Given the description of an element on the screen output the (x, y) to click on. 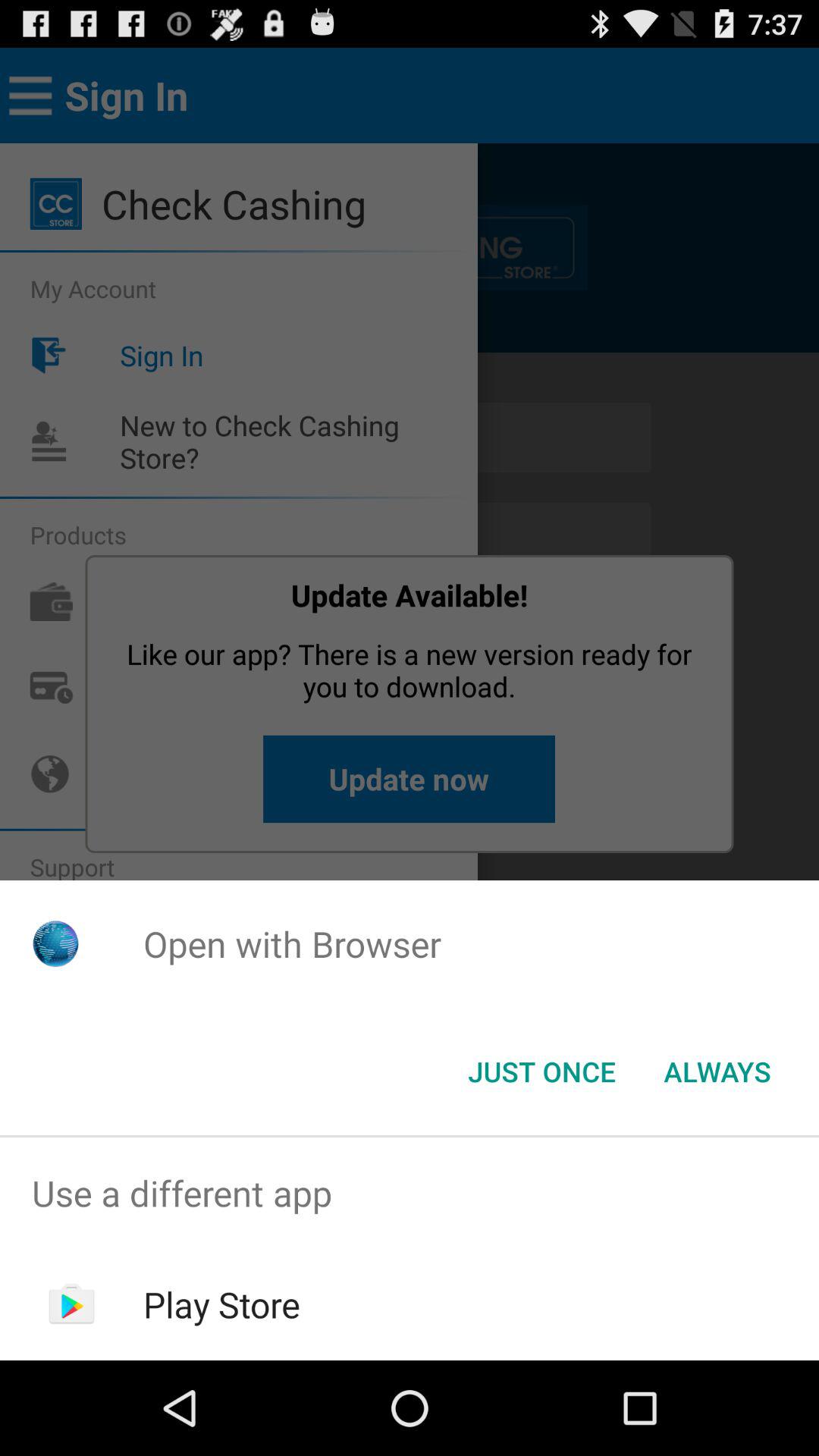
select icon to the left of the always (541, 1071)
